Given the description of an element on the screen output the (x, y) to click on. 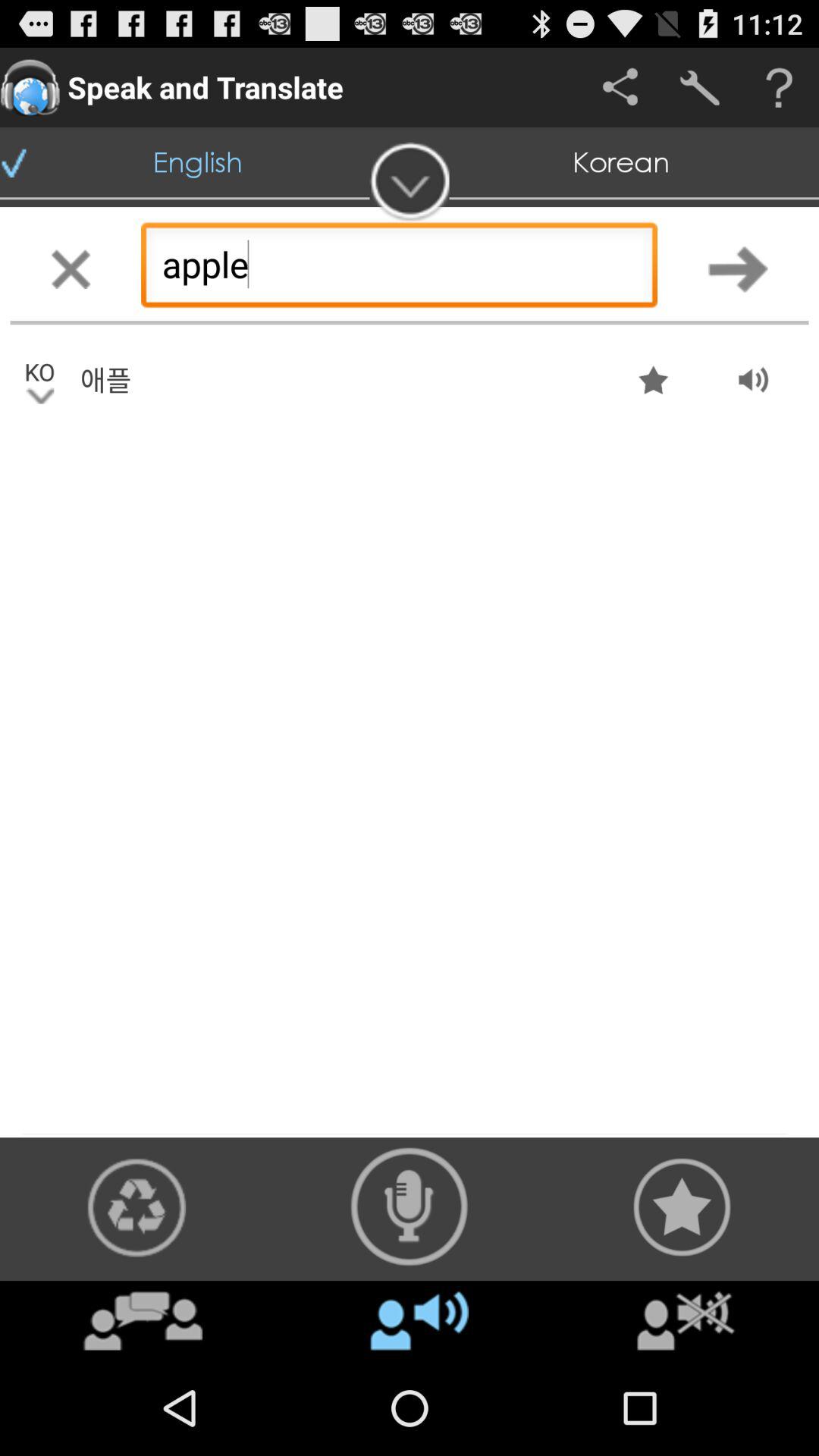
share this page (619, 87)
